Given the description of an element on the screen output the (x, y) to click on. 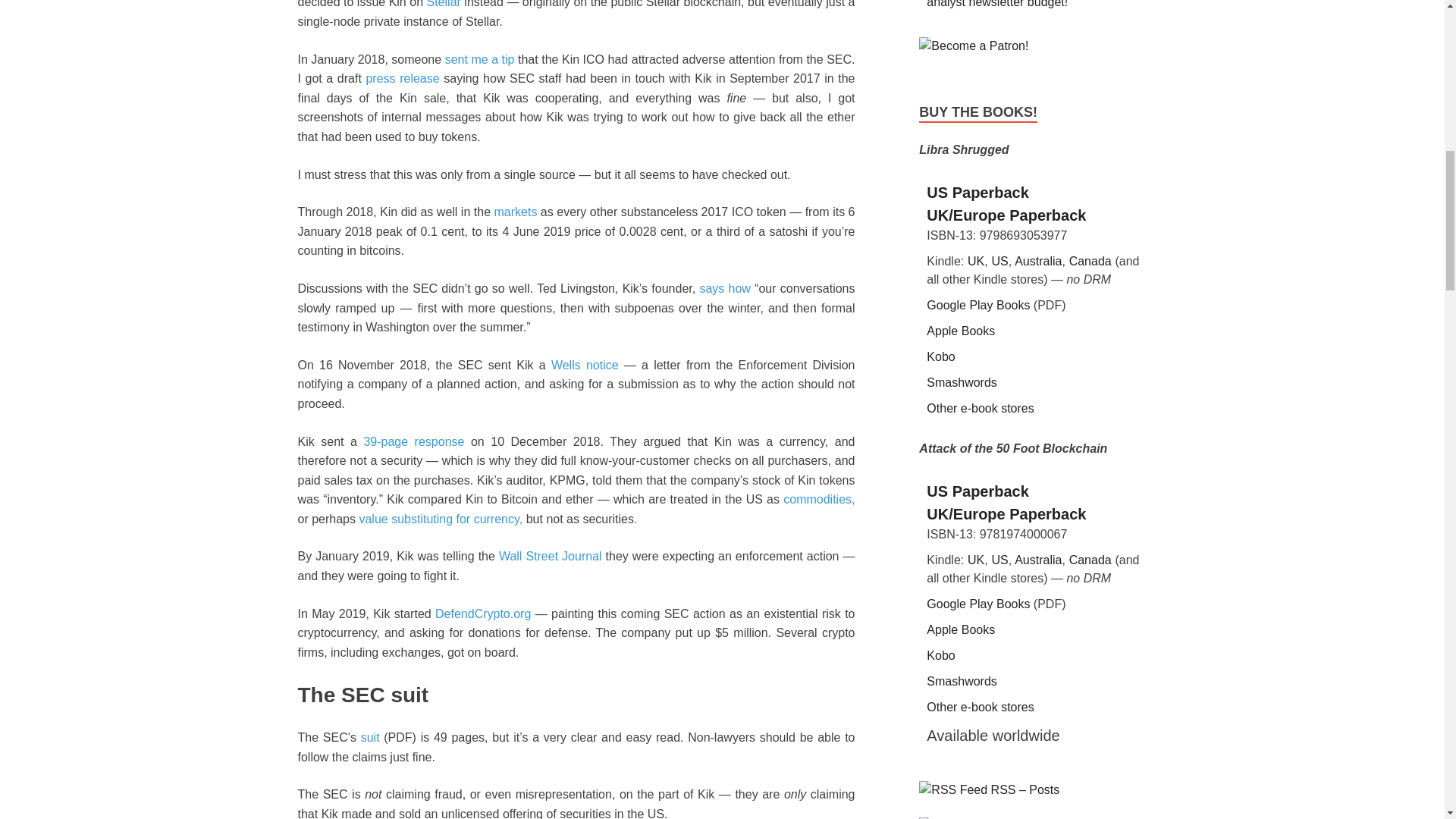
Wells notice (584, 364)
Subscribe to posts (988, 789)
markets (516, 211)
Stellar (443, 4)
press release (402, 78)
says how (723, 287)
sent me a tip (480, 59)
Become a Patron! (972, 45)
